Given the description of an element on the screen output the (x, y) to click on. 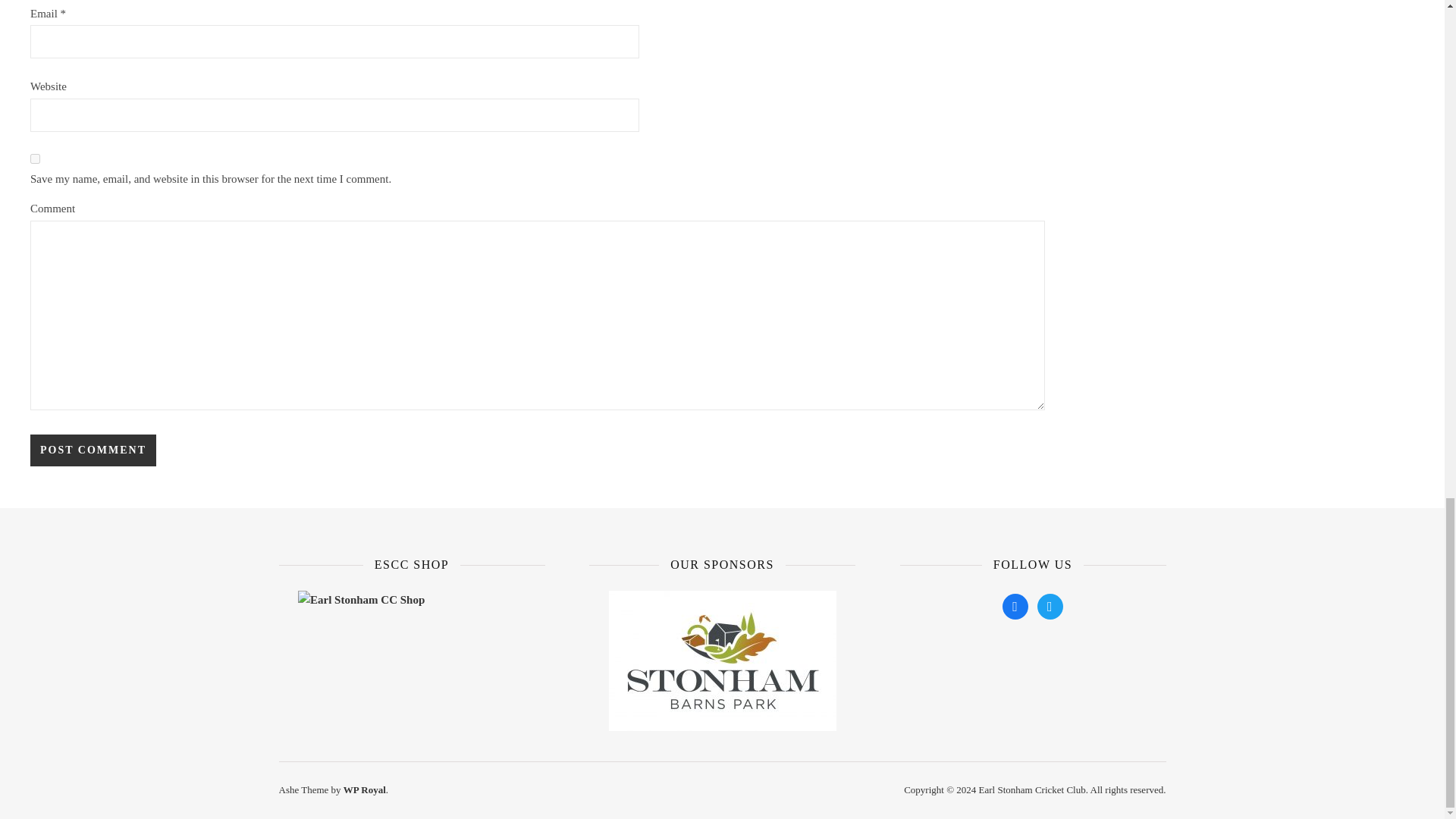
Facebook (1015, 605)
yes (35, 158)
Twitter (1049, 605)
Post Comment (92, 450)
